Given the description of an element on the screen output the (x, y) to click on. 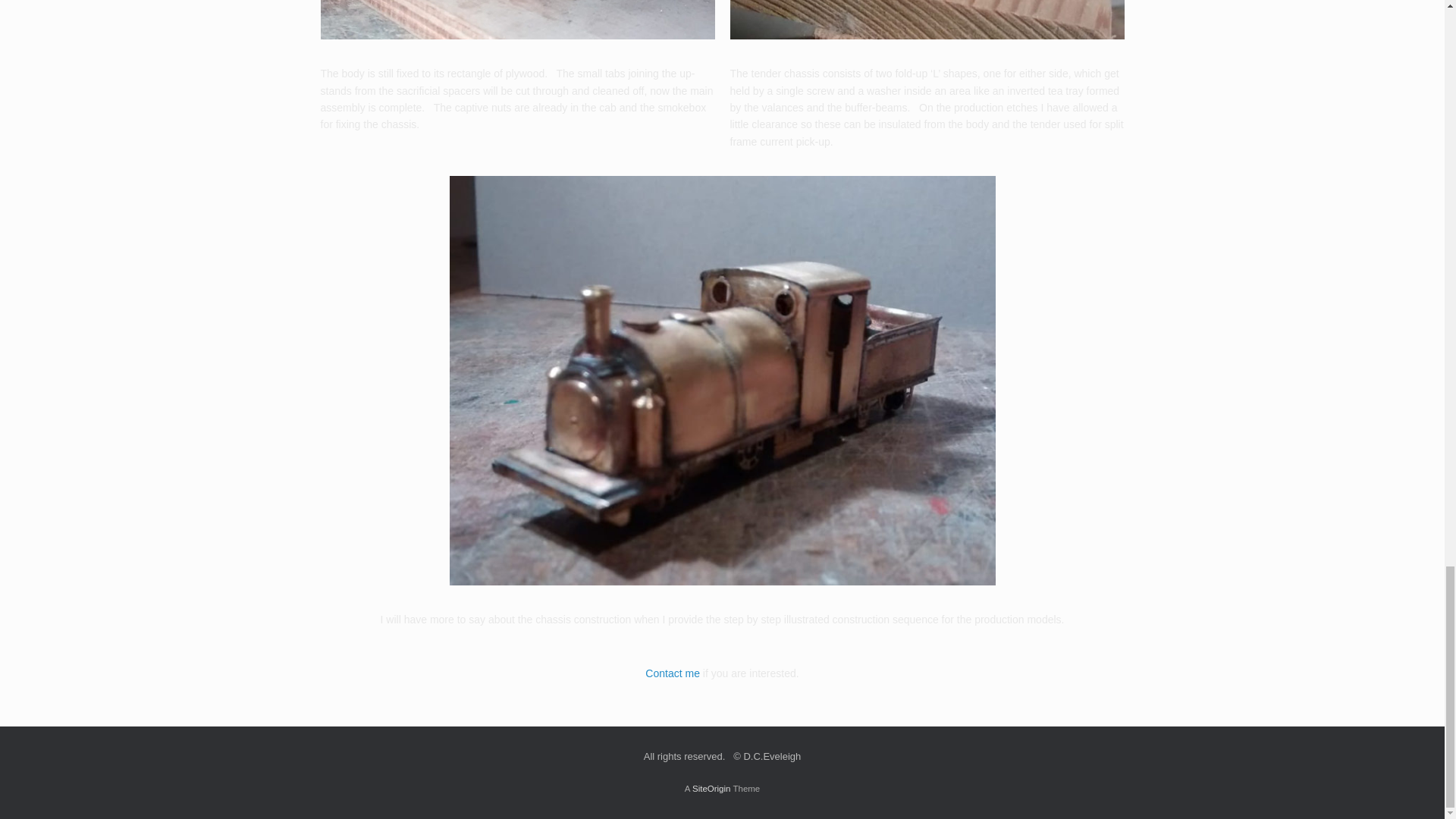
Contact me (672, 673)
SiteOrigin (711, 788)
